Given the description of an element on the screen output the (x, y) to click on. 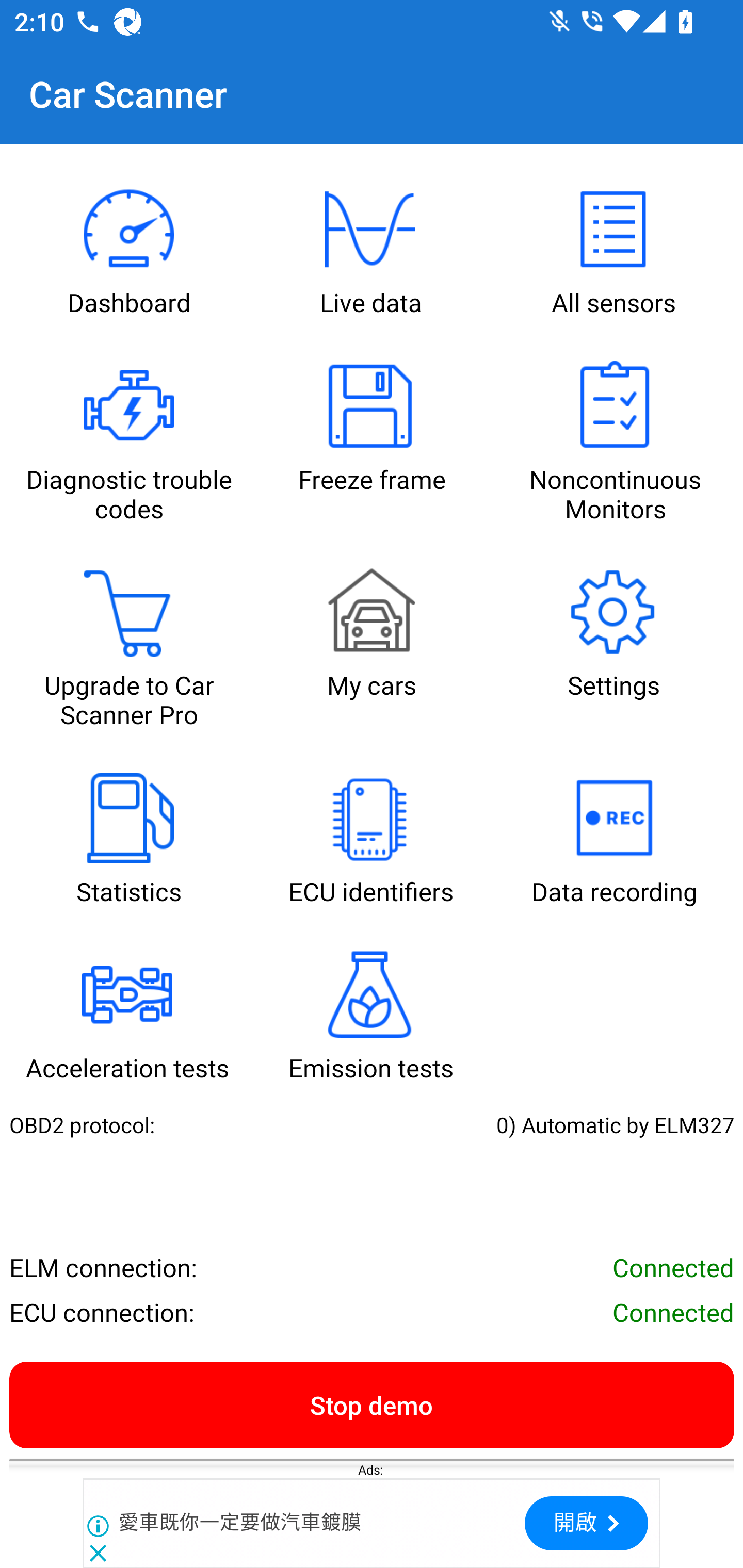
Stop demo (371, 1404)
開啟 (586, 1522)
愛車既你一定要做汽車鍍膜 (240, 1522)
